Given the description of an element on the screen output the (x, y) to click on. 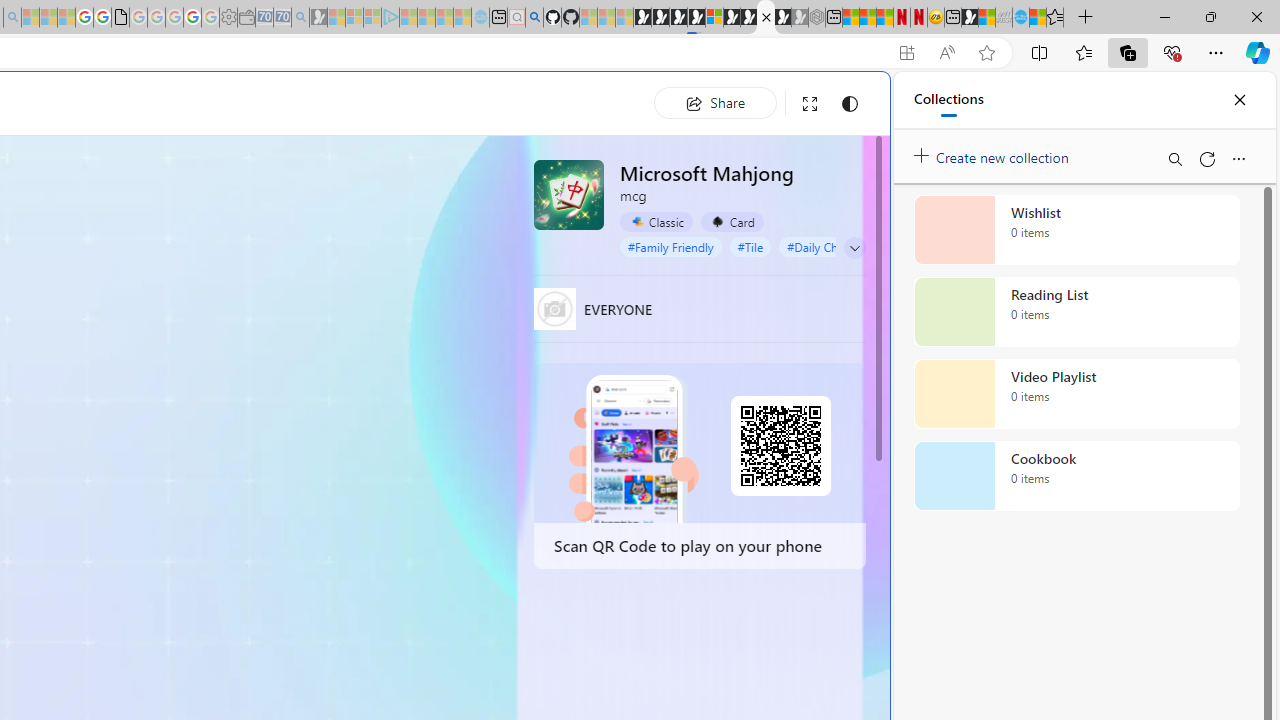
Close split screen (844, 102)
More options menu (1238, 158)
Video Playlist collection, 0 items (1076, 394)
EVERYONE (554, 308)
github - Search (534, 17)
